Given the description of an element on the screen output the (x, y) to click on. 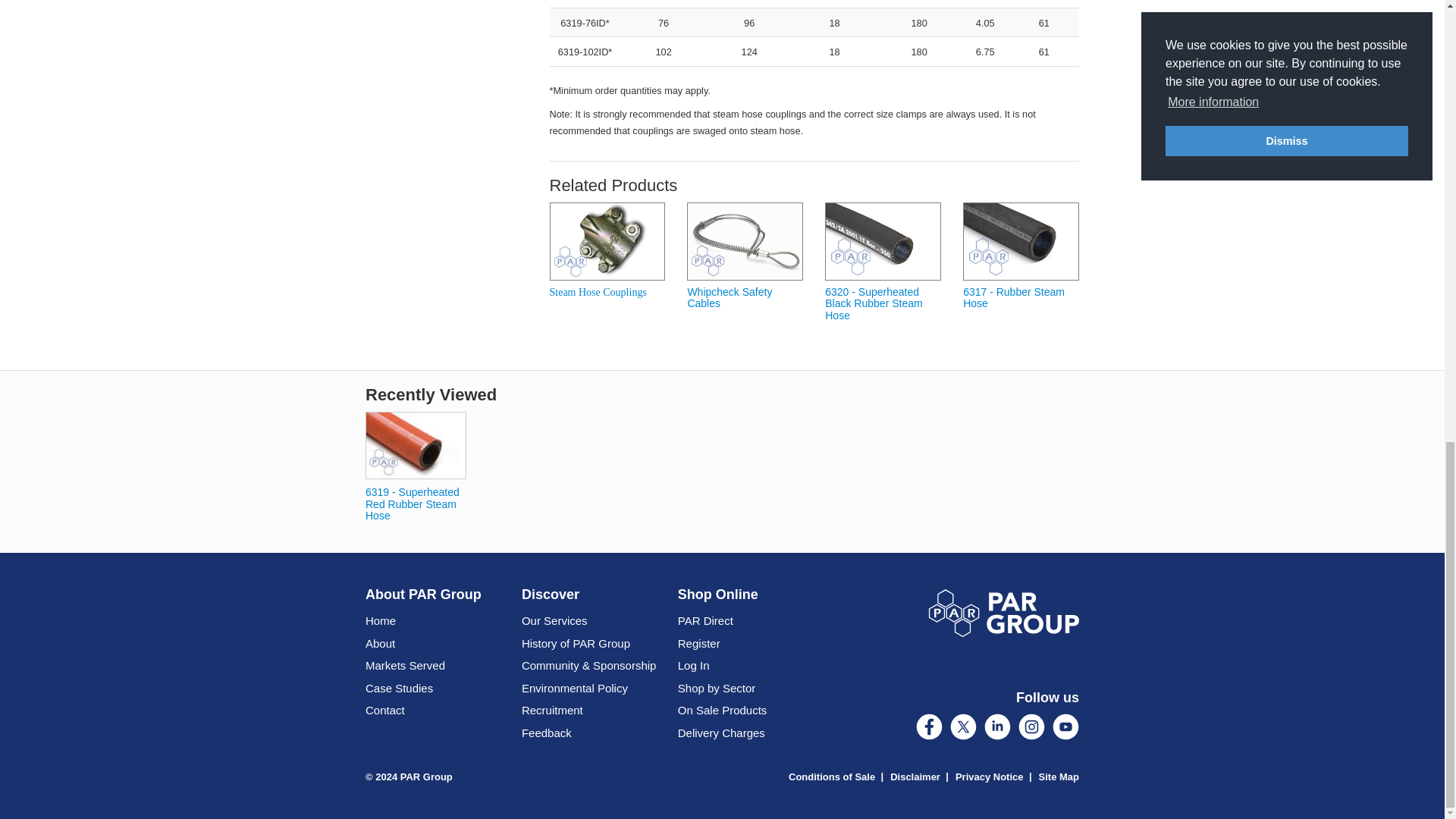
6317 - Rubber Steam Hose (1020, 241)
6320 - Superheated Black Rubber Steam Hose (882, 241)
6319 - Superheated Red Rubber Steam Hose (415, 444)
Whipcheck Safety Cables (745, 241)
Steam Hose Couplings (606, 241)
